Given the description of an element on the screen output the (x, y) to click on. 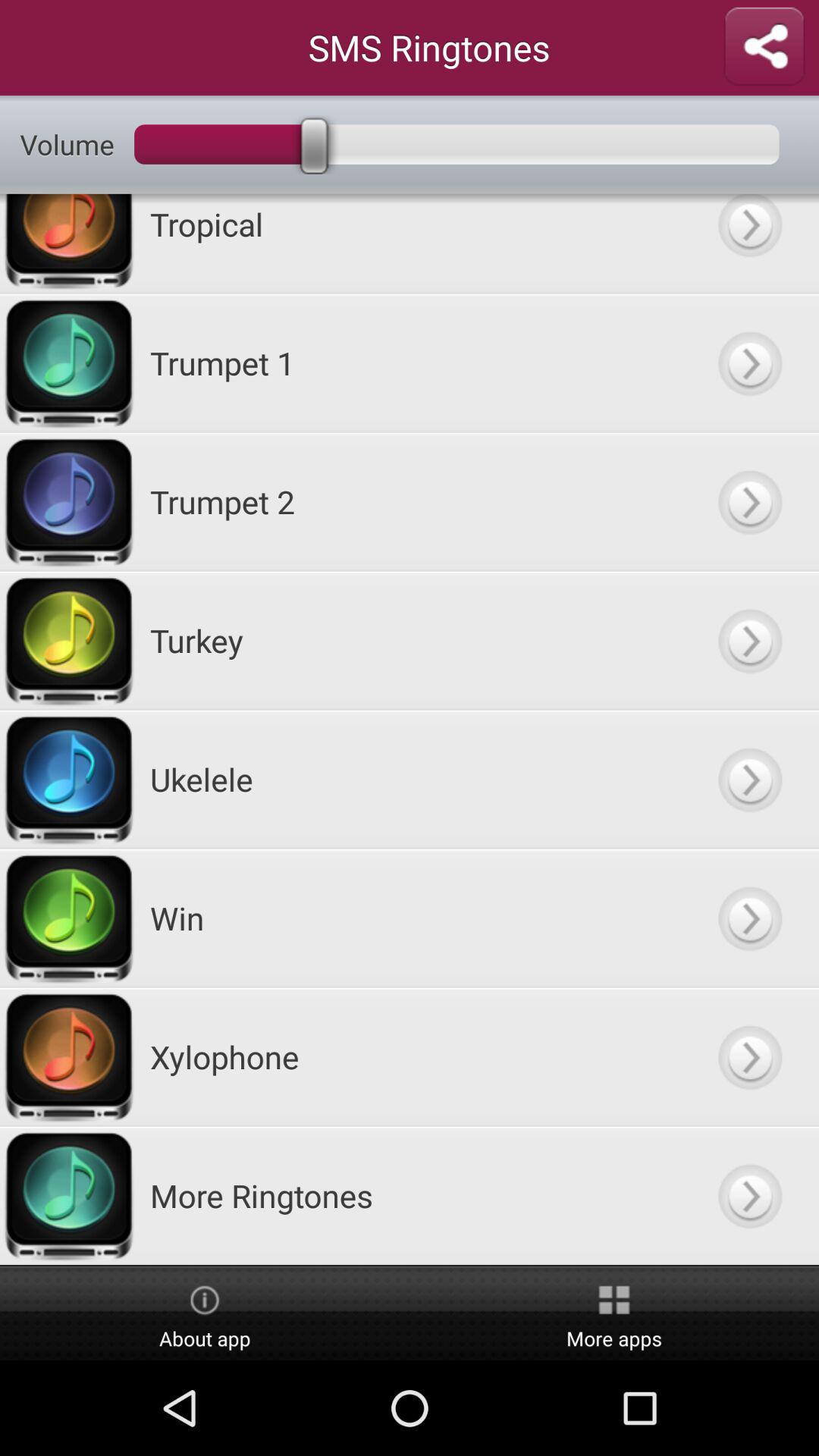
select tone (749, 363)
